Given the description of an element on the screen output the (x, y) to click on. 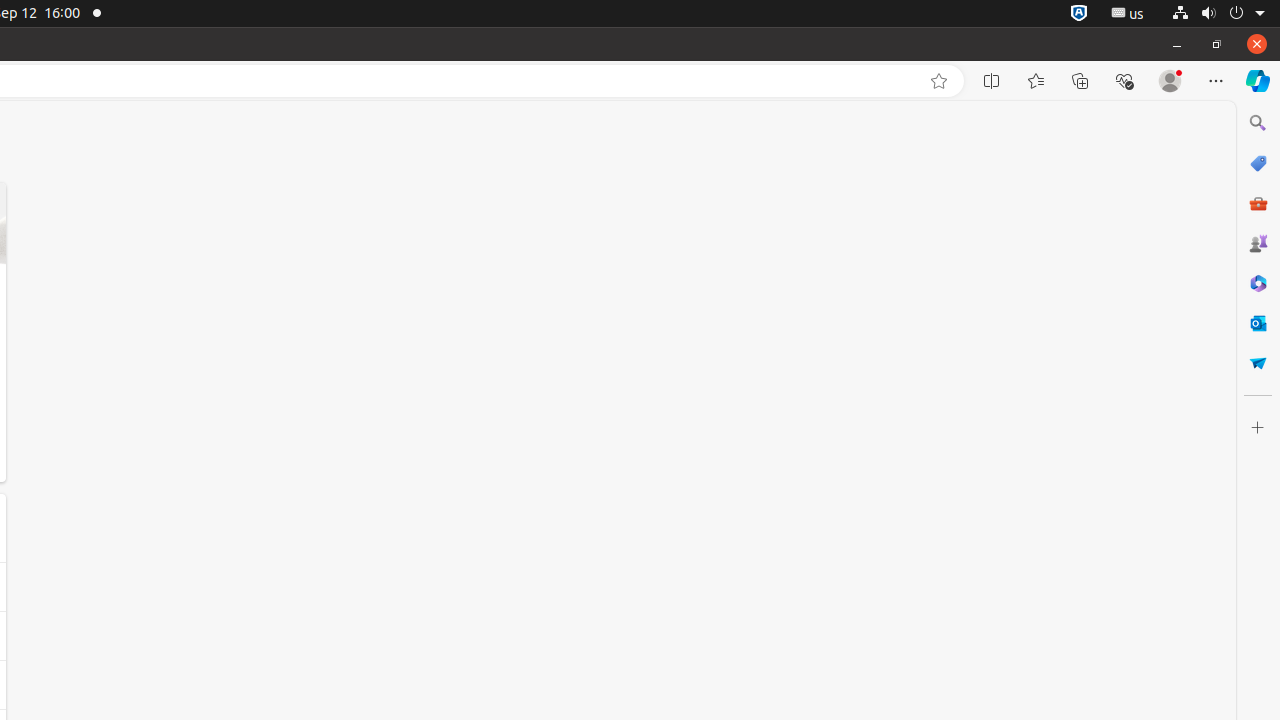
Copilot (Ctrl+Shift+.) Element type: push-button (1258, 81)
Profile 1 Profile, Please sign in Element type: push-button (1170, 81)
:1.72/StatusNotifierItem Element type: menu (1079, 13)
Customize Element type: push-button (1258, 428)
Collections Element type: push-button (1080, 81)
